Given the description of an element on the screen output the (x, y) to click on. 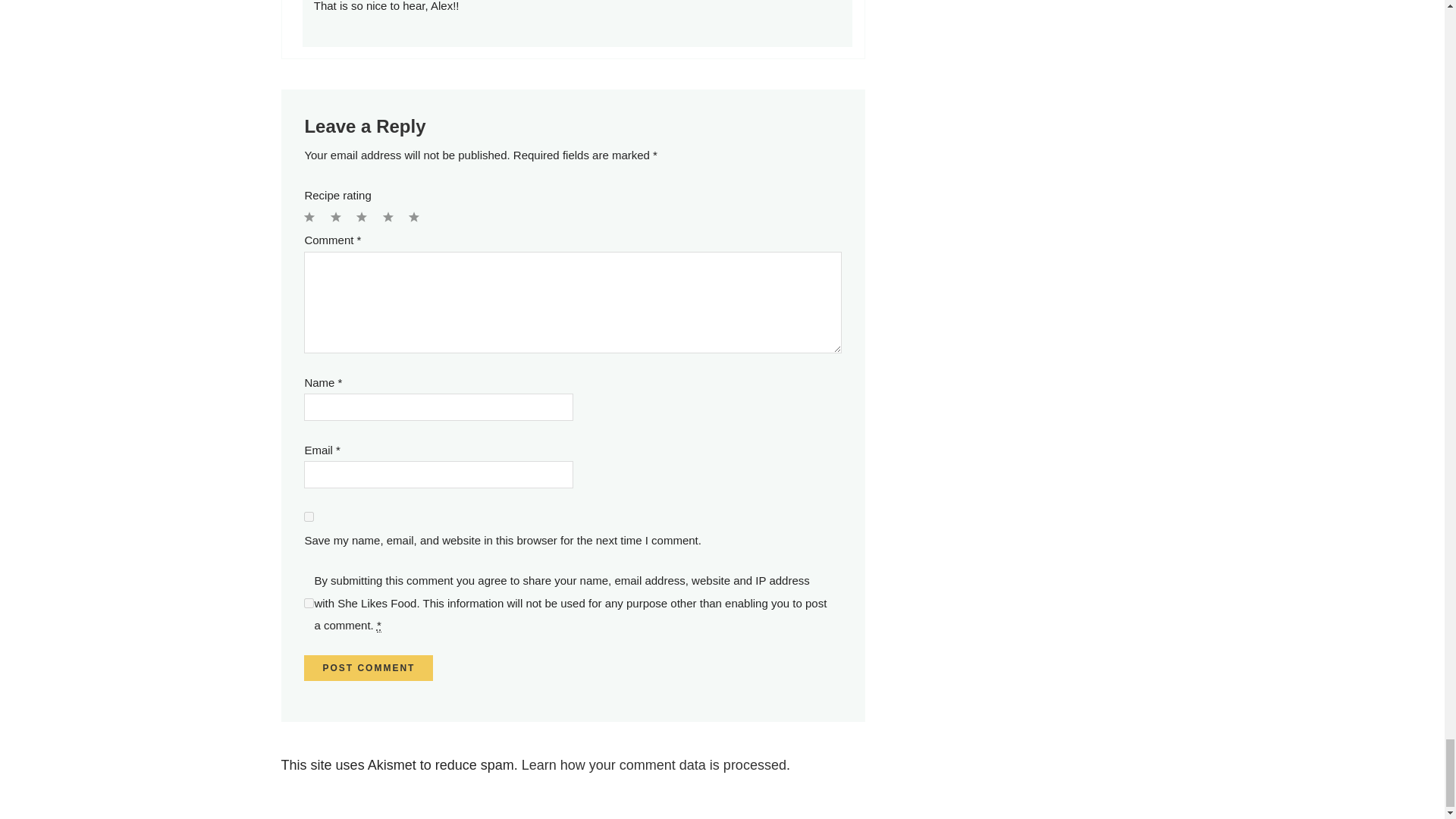
yes (309, 516)
Post Comment (368, 667)
